Given the description of an element on the screen output the (x, y) to click on. 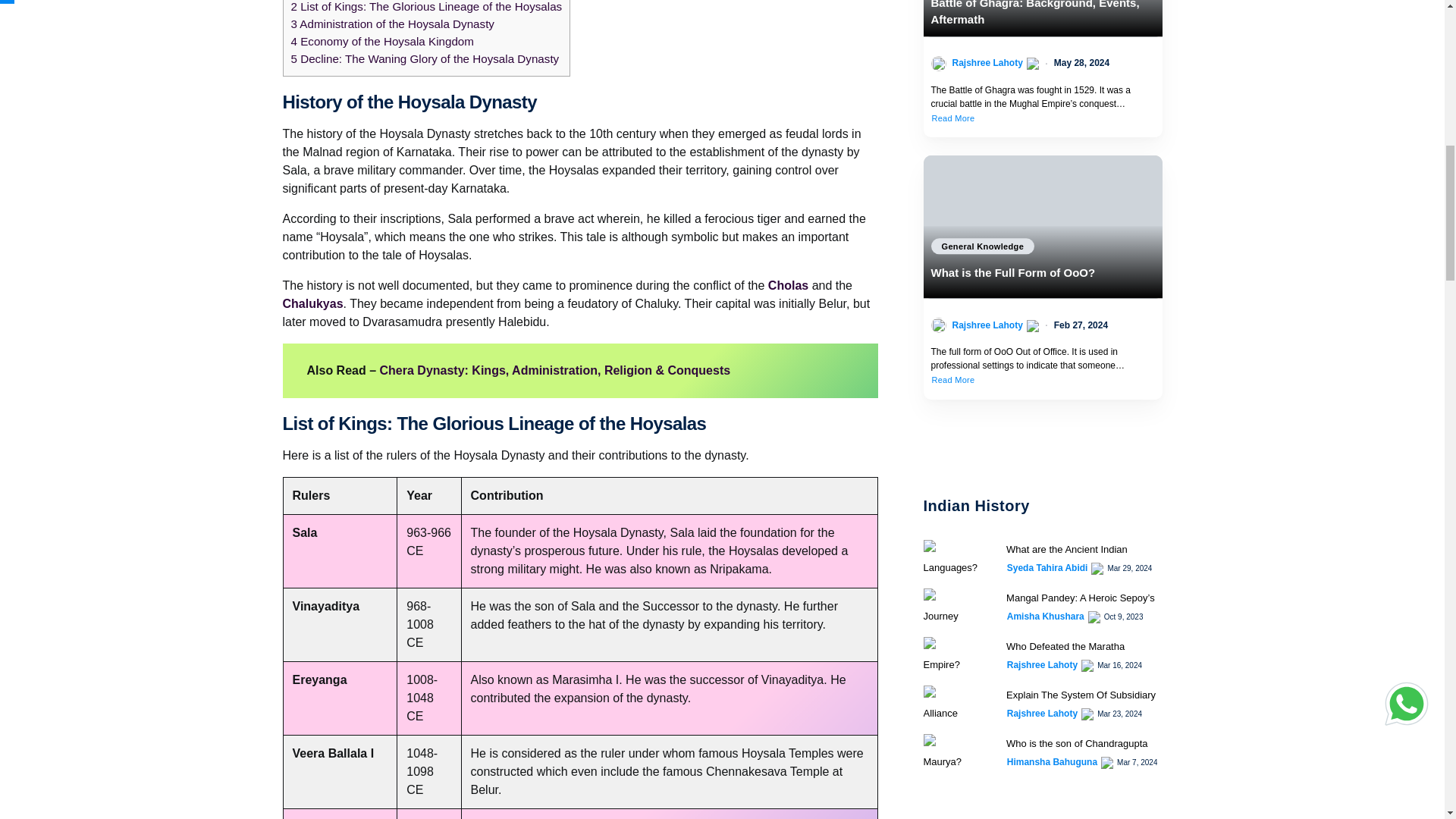
View all posts by Rajshree Lahoty (1042, 664)
View all posts by Rajshree Lahoty (1042, 713)
View all posts by Rajshree Lahoty (987, 62)
View all posts by Syeda Tahira Abidi (1047, 567)
View all posts by Amisha Khushara (1045, 616)
View all posts by Himansha Bahuguna (1052, 762)
View all posts by Rajshree Lahoty (987, 325)
